Given the description of an element on the screen output the (x, y) to click on. 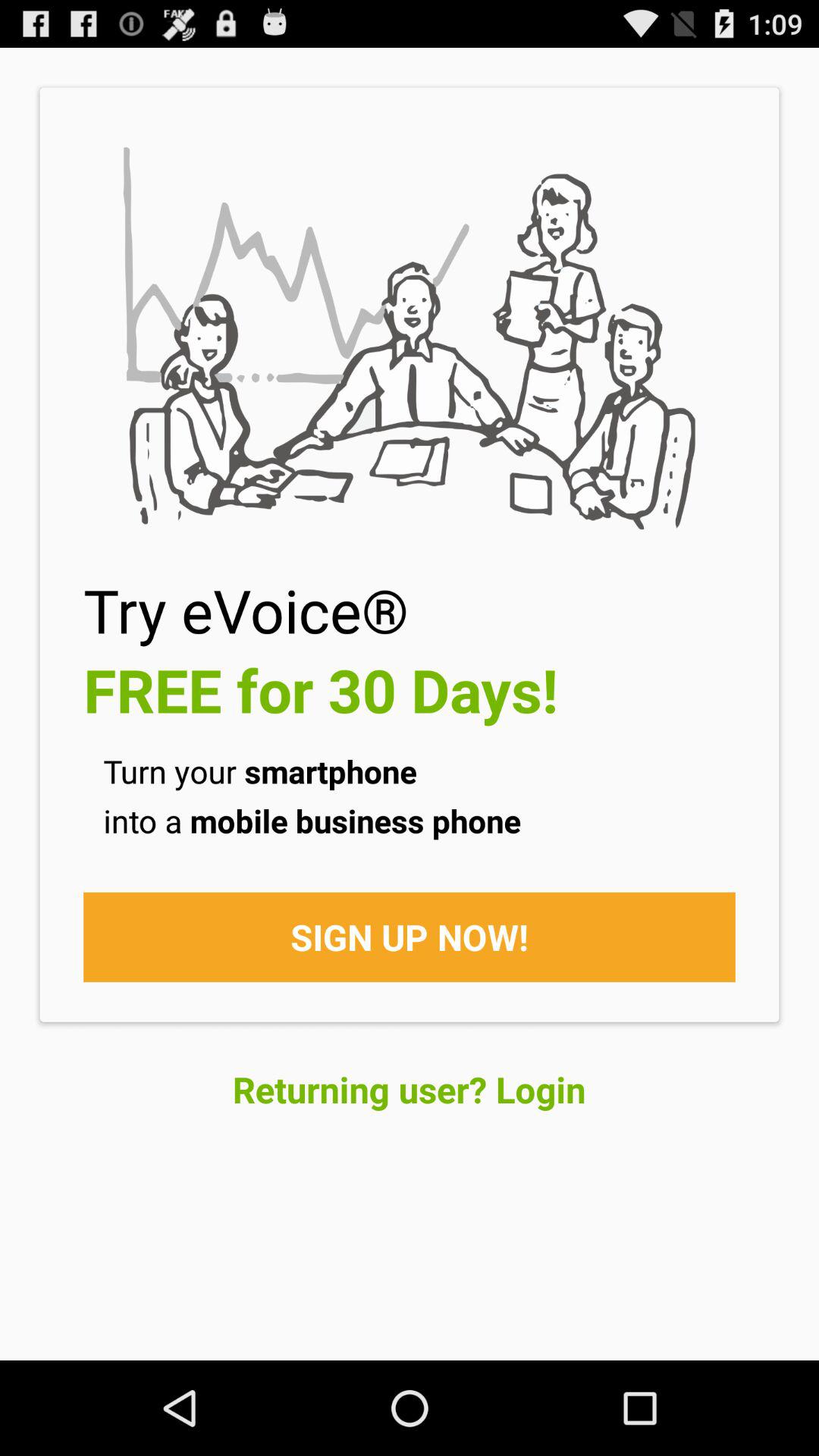
tap the sign up now! (409, 937)
